Given the description of an element on the screen output the (x, y) to click on. 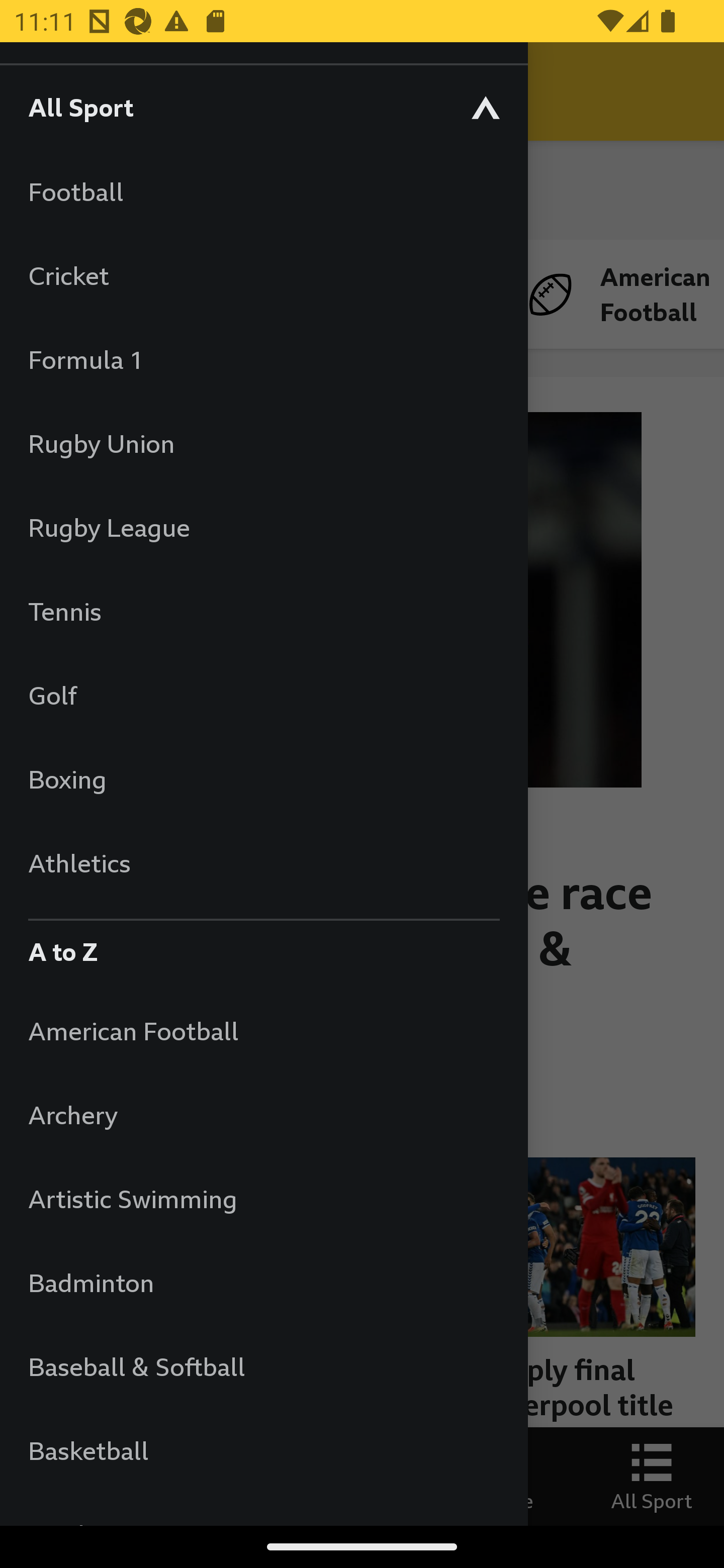
All Sport (263, 106)
Football (263, 190)
Cricket (263, 275)
Formula 1 (263, 358)
Rugby Union (263, 443)
Rugby League (263, 526)
Tennis (263, 611)
Golf (263, 694)
Boxing (263, 778)
Athletics (263, 862)
A to Z (263, 946)
American Football (263, 1029)
Archery (263, 1114)
Artistic Swimming (263, 1198)
Badminton (263, 1282)
Baseball & Softball (263, 1366)
Basketball (263, 1450)
